Given the description of an element on the screen output the (x, y) to click on. 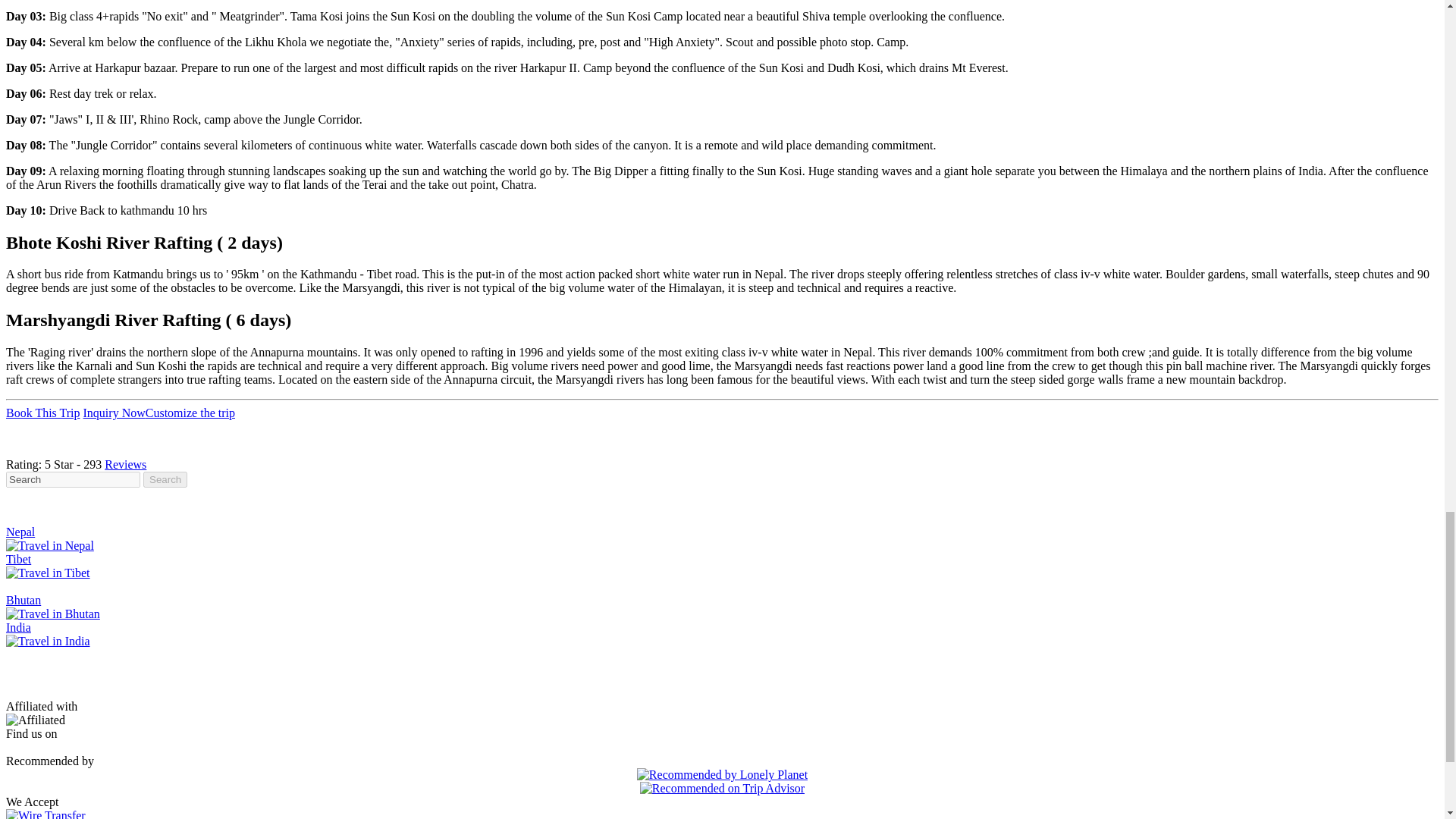
Search (72, 479)
